Given the description of an element on the screen output the (x, y) to click on. 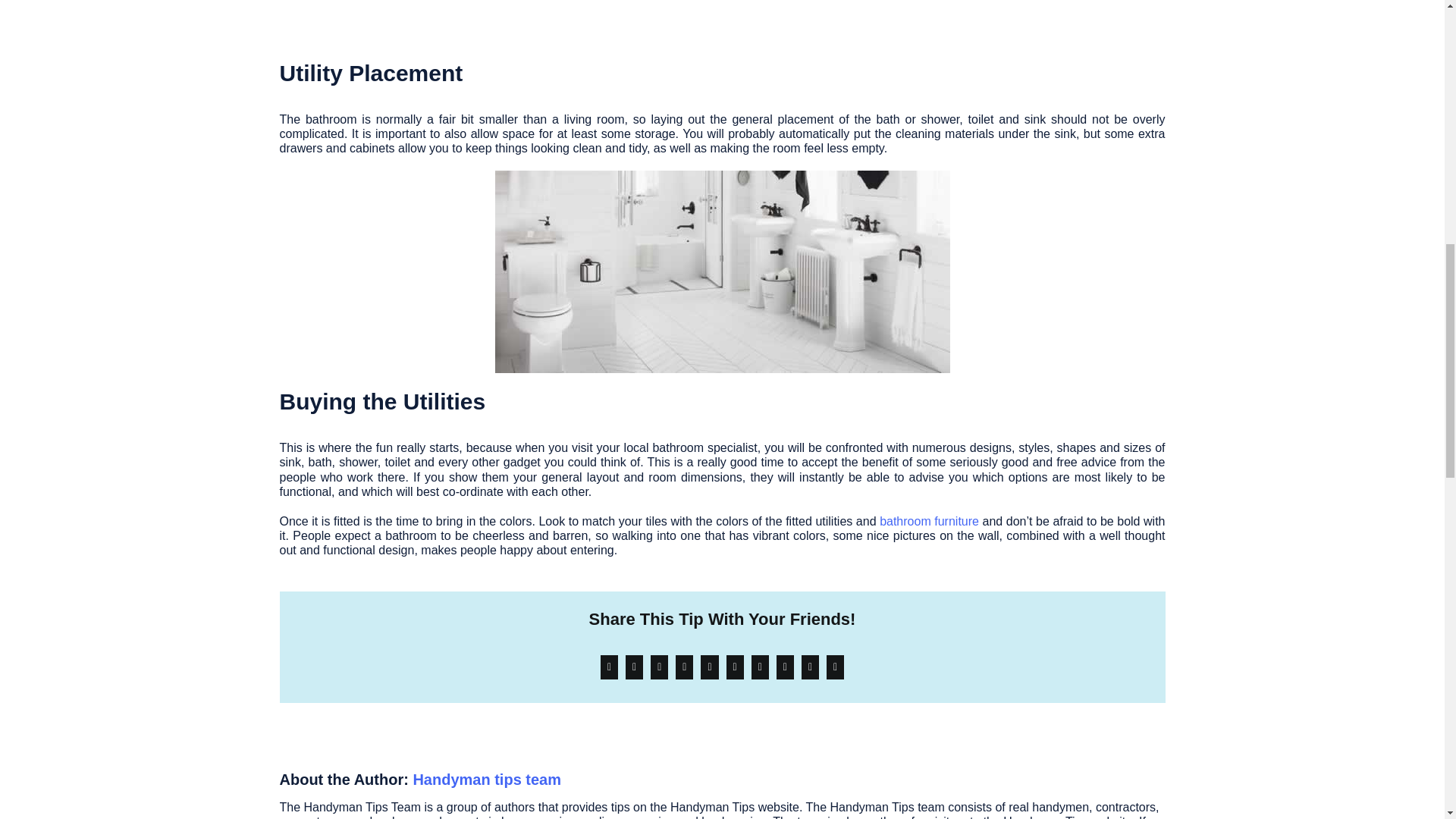
WhatsApp (709, 667)
X (633, 667)
Reddit (658, 667)
Email (834, 667)
Xing (809, 667)
Pinterest (760, 667)
LinkedIn (684, 667)
bathroom furniture (928, 521)
Handyman tips team (486, 779)
Tumblr (734, 667)
Facebook (608, 667)
Vk (785, 667)
